Given the description of an element on the screen output the (x, y) to click on. 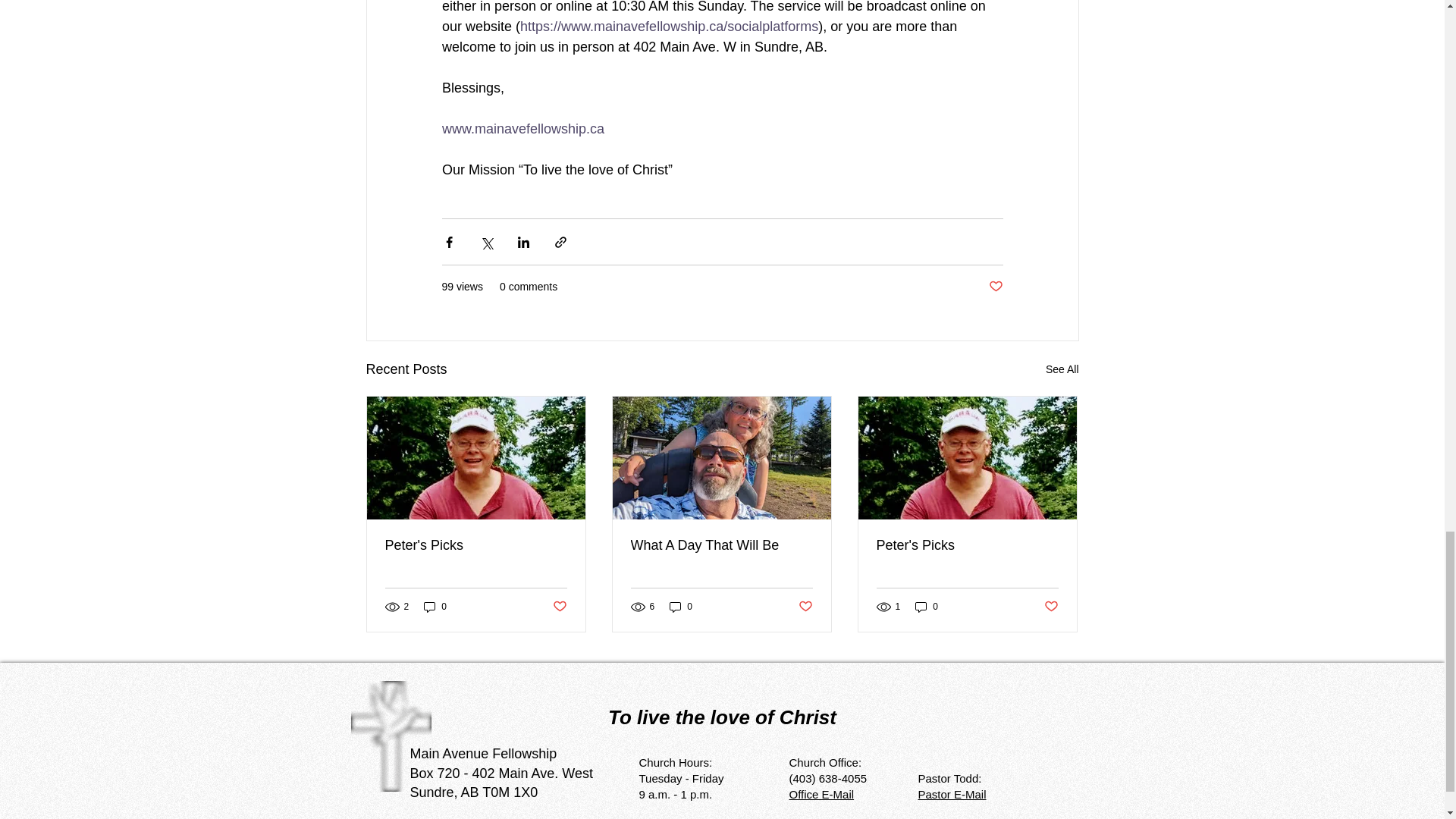
What A Day That Will Be  (721, 545)
Post not marked as liked (995, 286)
See All (1061, 369)
0 (926, 606)
Peter's Picks (967, 545)
www.mainavefellowship.ca (522, 128)
0 (681, 606)
0 (435, 606)
Post not marked as liked (558, 606)
Post not marked as liked (804, 606)
